Given the description of an element on the screen output the (x, y) to click on. 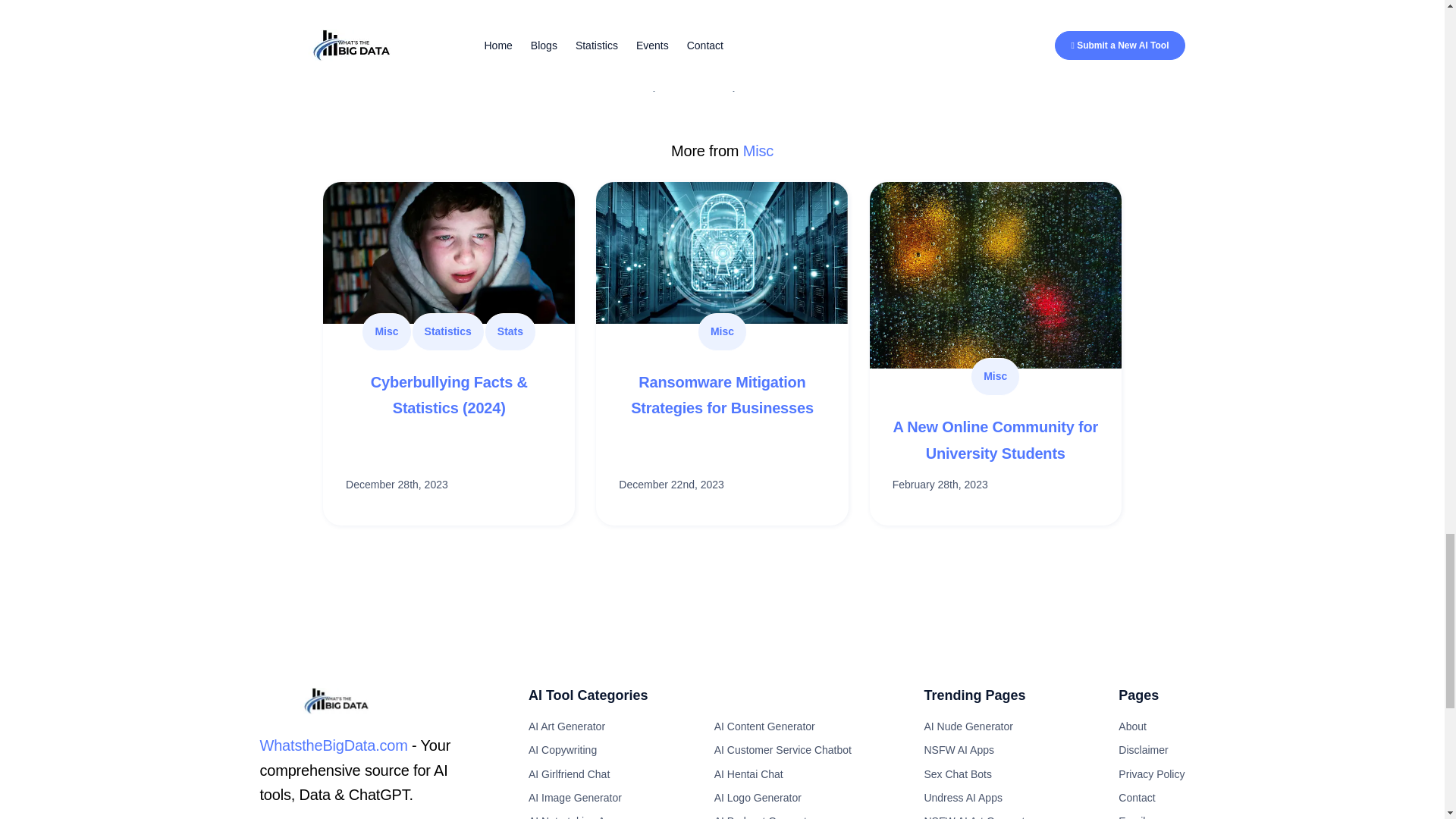
Ransomware Mitigation Strategies for Businesses (721, 394)
Misc (721, 331)
Misc (385, 331)
Statistics (448, 331)
Misc (757, 150)
Stats (509, 331)
